Given the description of an element on the screen output the (x, y) to click on. 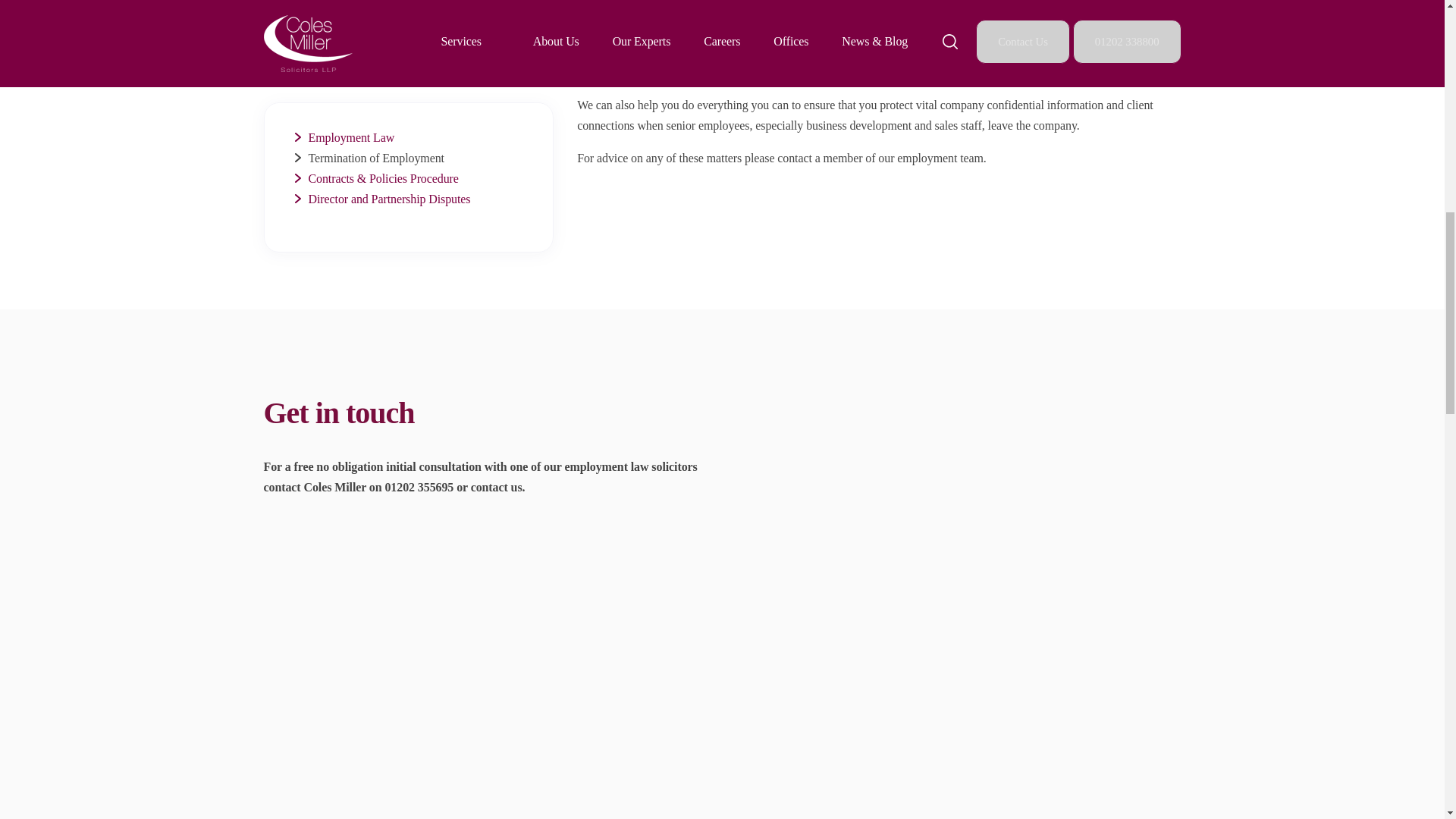
Customer reviews powered by Trustpilot (878, 237)
